Given the description of an element on the screen output the (x, y) to click on. 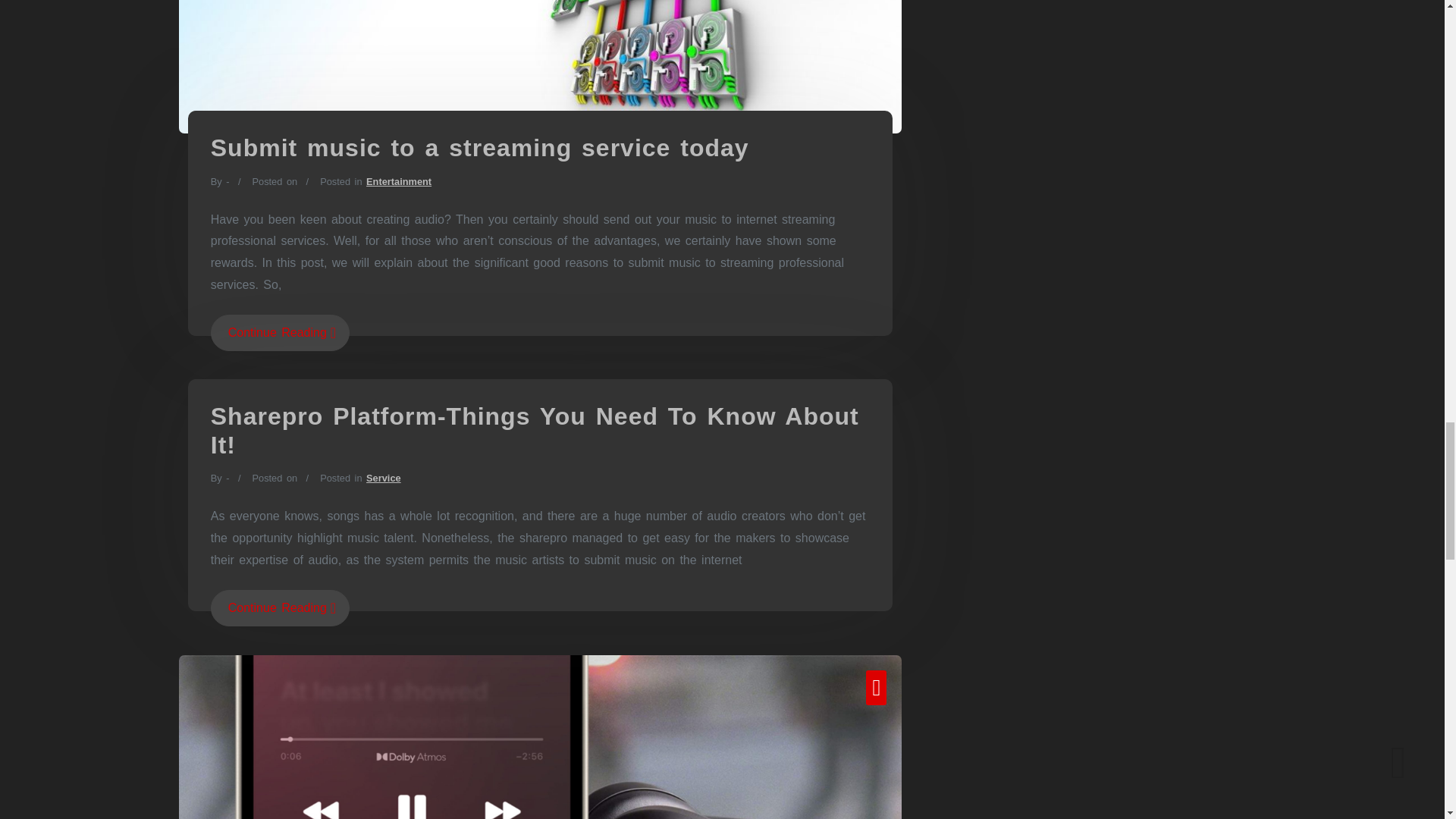
Entertainment (398, 181)
Service (383, 478)
Continue Reading (280, 332)
Sharepro Platform-Things You Need To Know About It! (535, 430)
Continue Reading (280, 607)
Submit music to a streaming service today (480, 147)
